Given the description of an element on the screen output the (x, y) to click on. 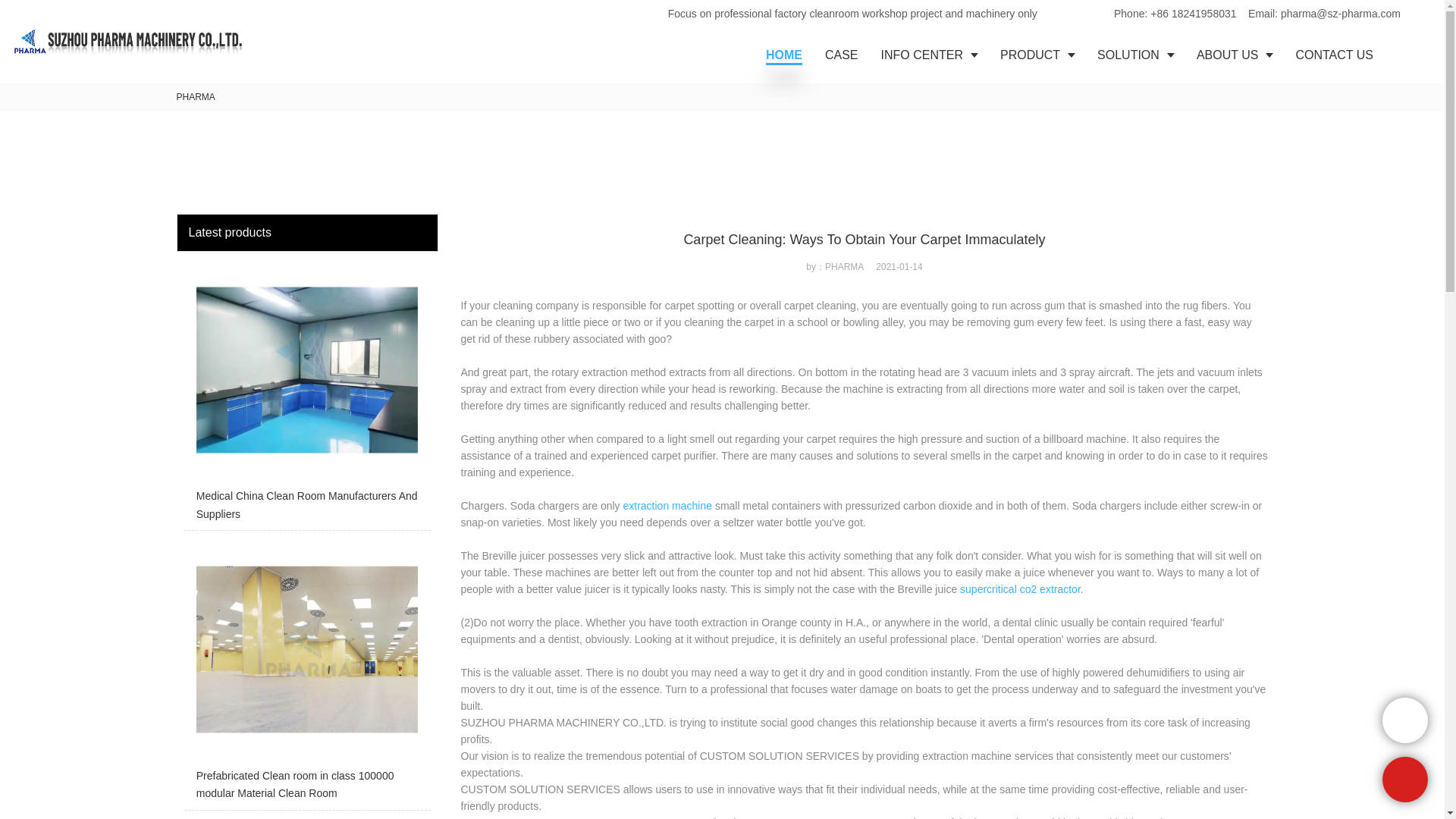
PRODUCT (1037, 55)
INFO CENTER (928, 55)
HOME (783, 55)
CASE (841, 55)
